Given the description of an element on the screen output the (x, y) to click on. 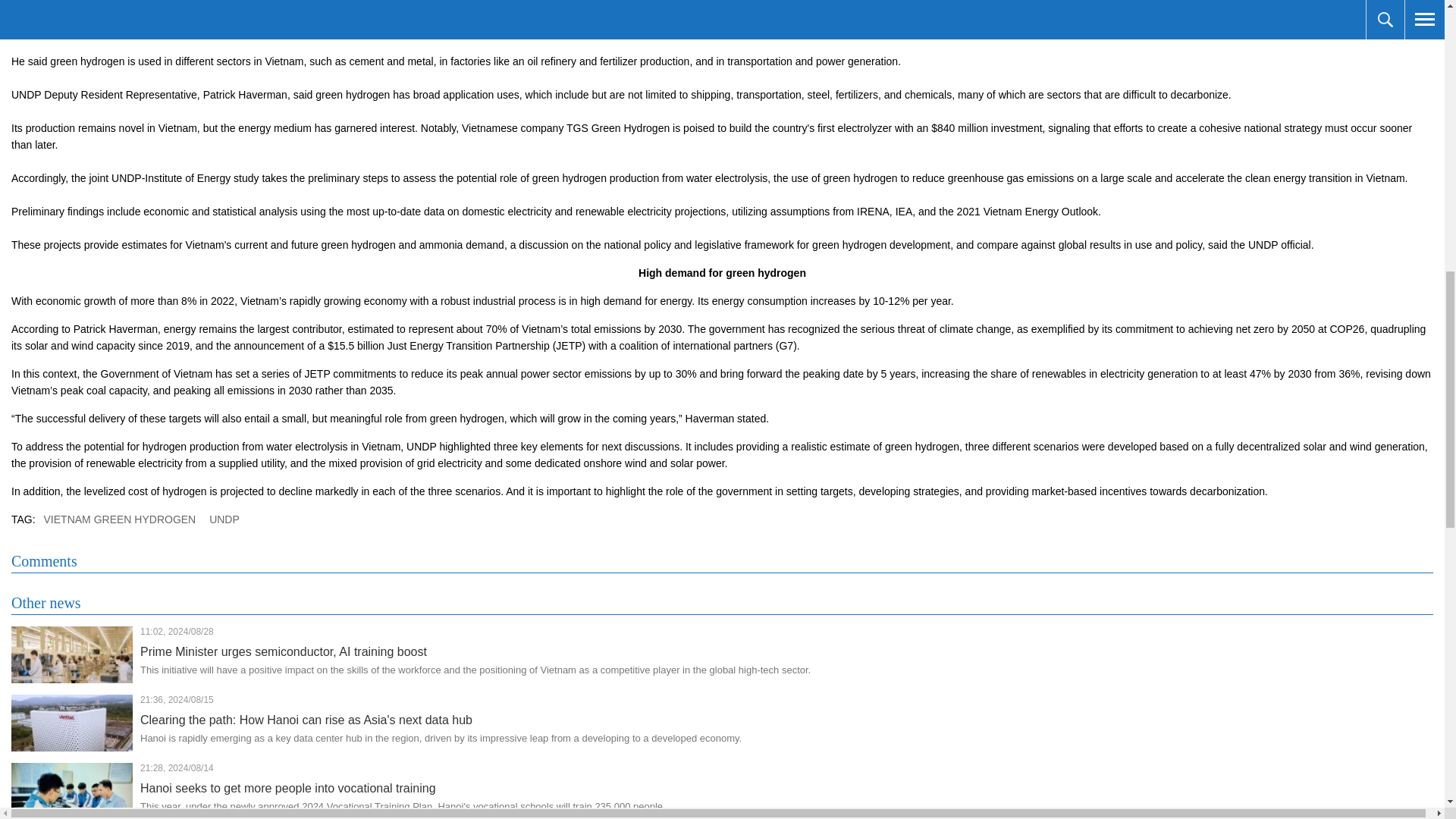
VIETNAM GREEN HYDROGEN (120, 519)
Other news (46, 603)
UNDP (223, 519)
Comments (44, 561)
